Given the description of an element on the screen output the (x, y) to click on. 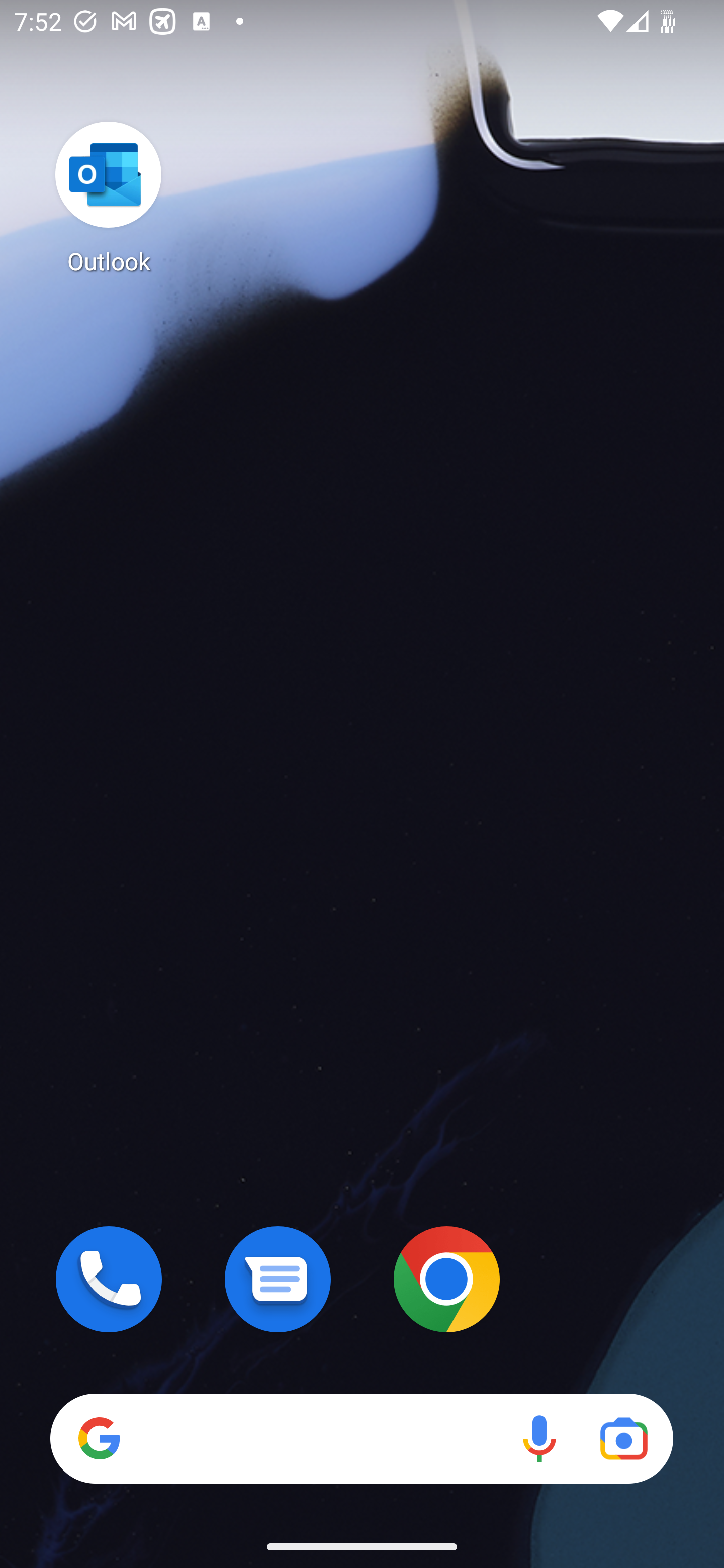
Outlook (108, 196)
Phone (108, 1279)
Messages (277, 1279)
Chrome (446, 1279)
Voice search (539, 1438)
Google Lens (623, 1438)
